Given the description of an element on the screen output the (x, y) to click on. 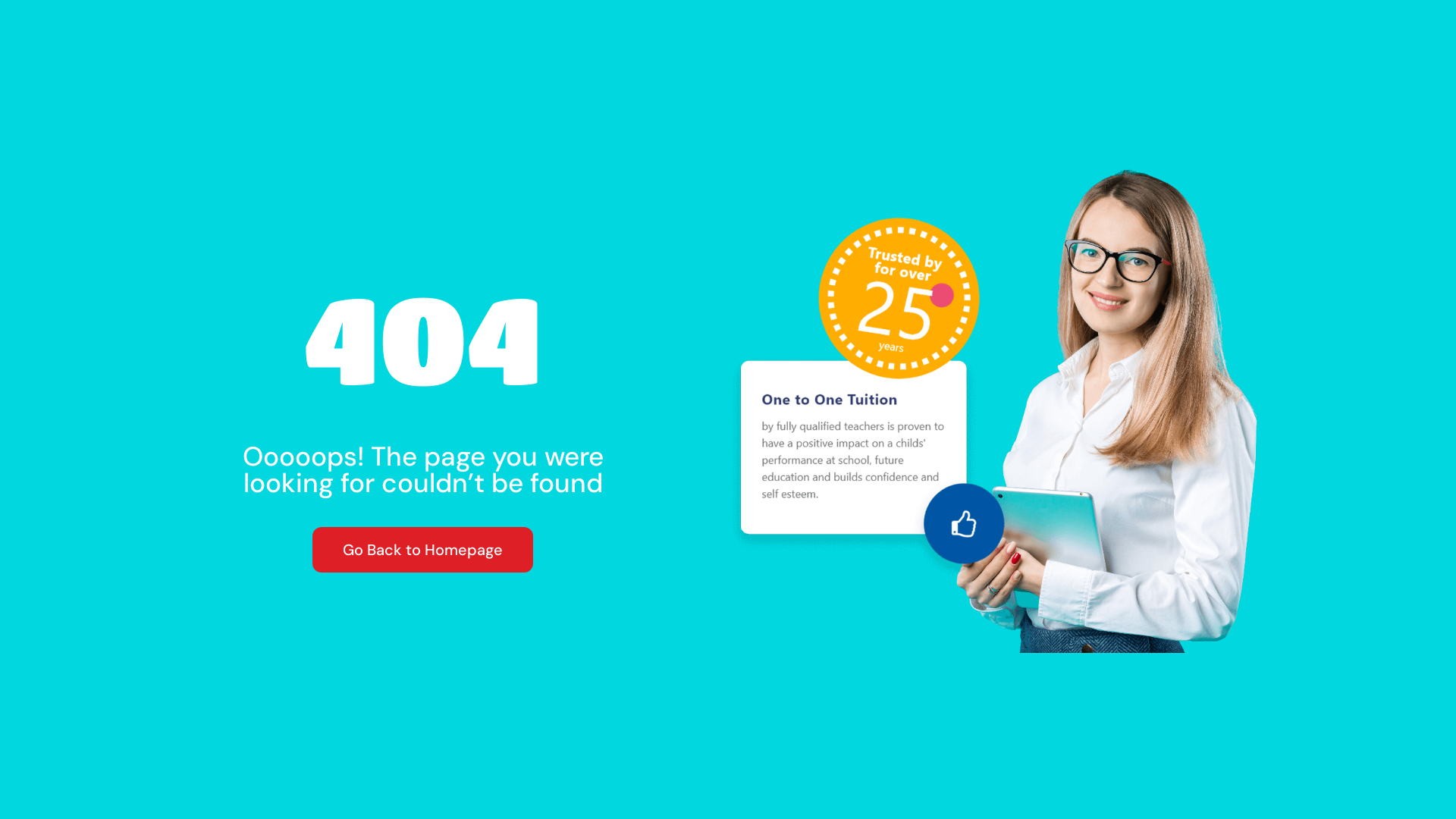
Go Back to Homepage Element type: text (422, 549)
